Given the description of an element on the screen output the (x, y) to click on. 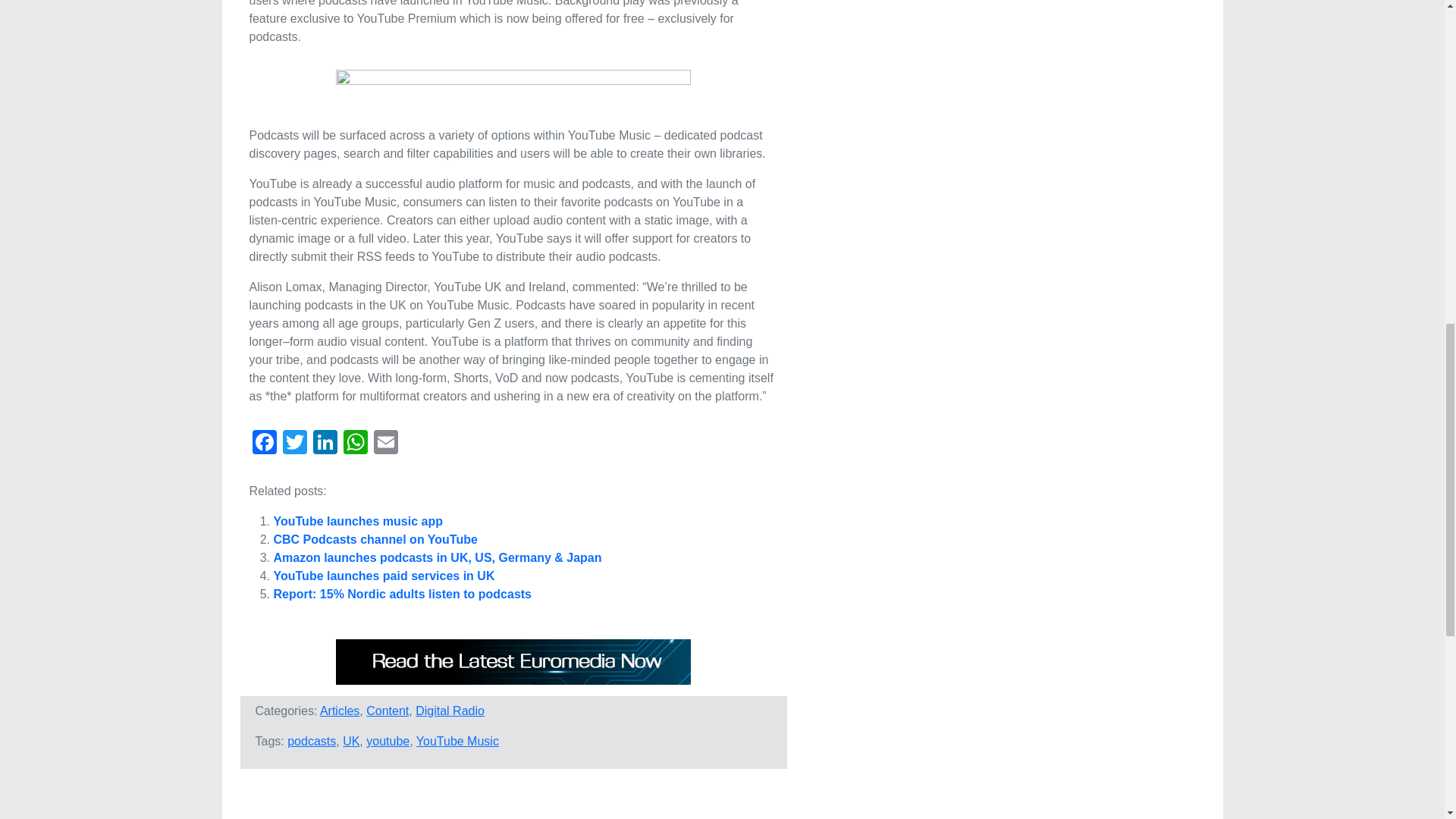
Facebook (263, 443)
YouTube launches music app (357, 521)
Digital Radio (449, 710)
YouTube Music (457, 740)
Articles (339, 710)
YouTube launches music app (357, 521)
UK (350, 740)
WhatsApp (354, 443)
Facebook (263, 443)
Twitter (293, 443)
CBC Podcasts channel on YouTube (375, 539)
WhatsApp (354, 443)
LinkedIn (323, 443)
Email (384, 443)
Content (387, 710)
